Given the description of an element on the screen output the (x, y) to click on. 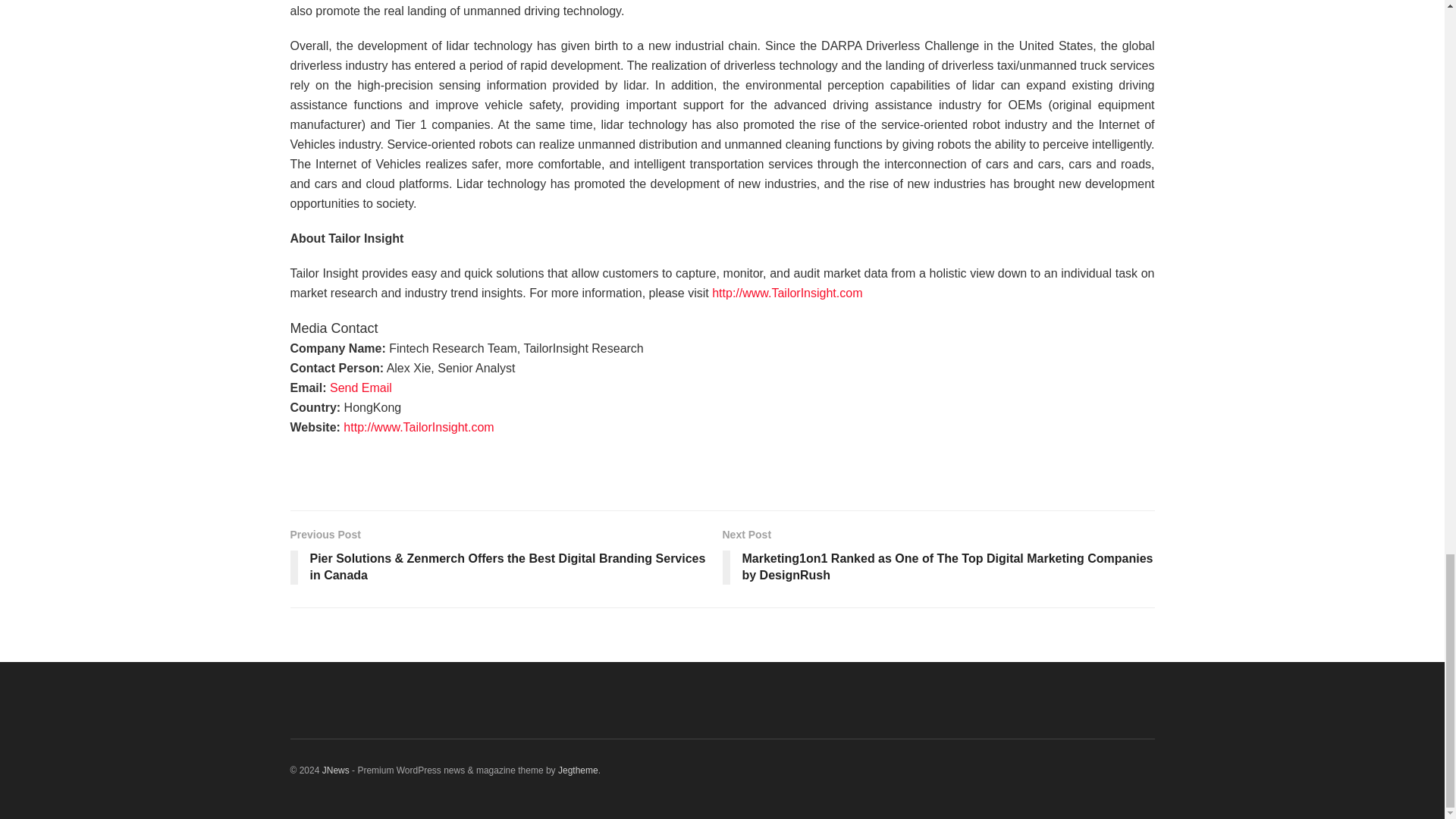
Send Email (360, 387)
JNews (335, 769)
Jegtheme (577, 769)
Jegtheme (577, 769)
